Given the description of an element on the screen output the (x, y) to click on. 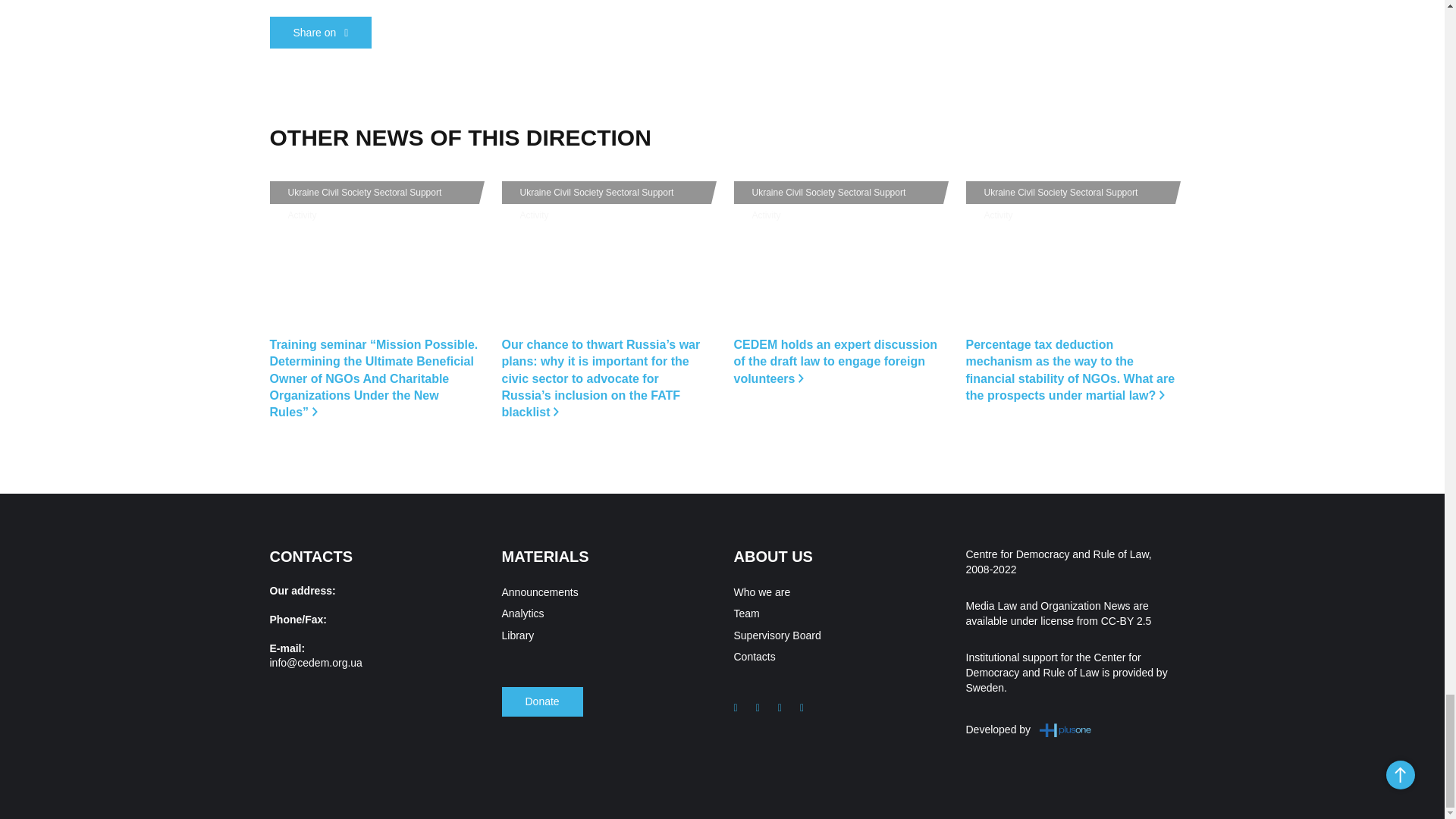
Facebook share (320, 32)
